Given the description of an element on the screen output the (x, y) to click on. 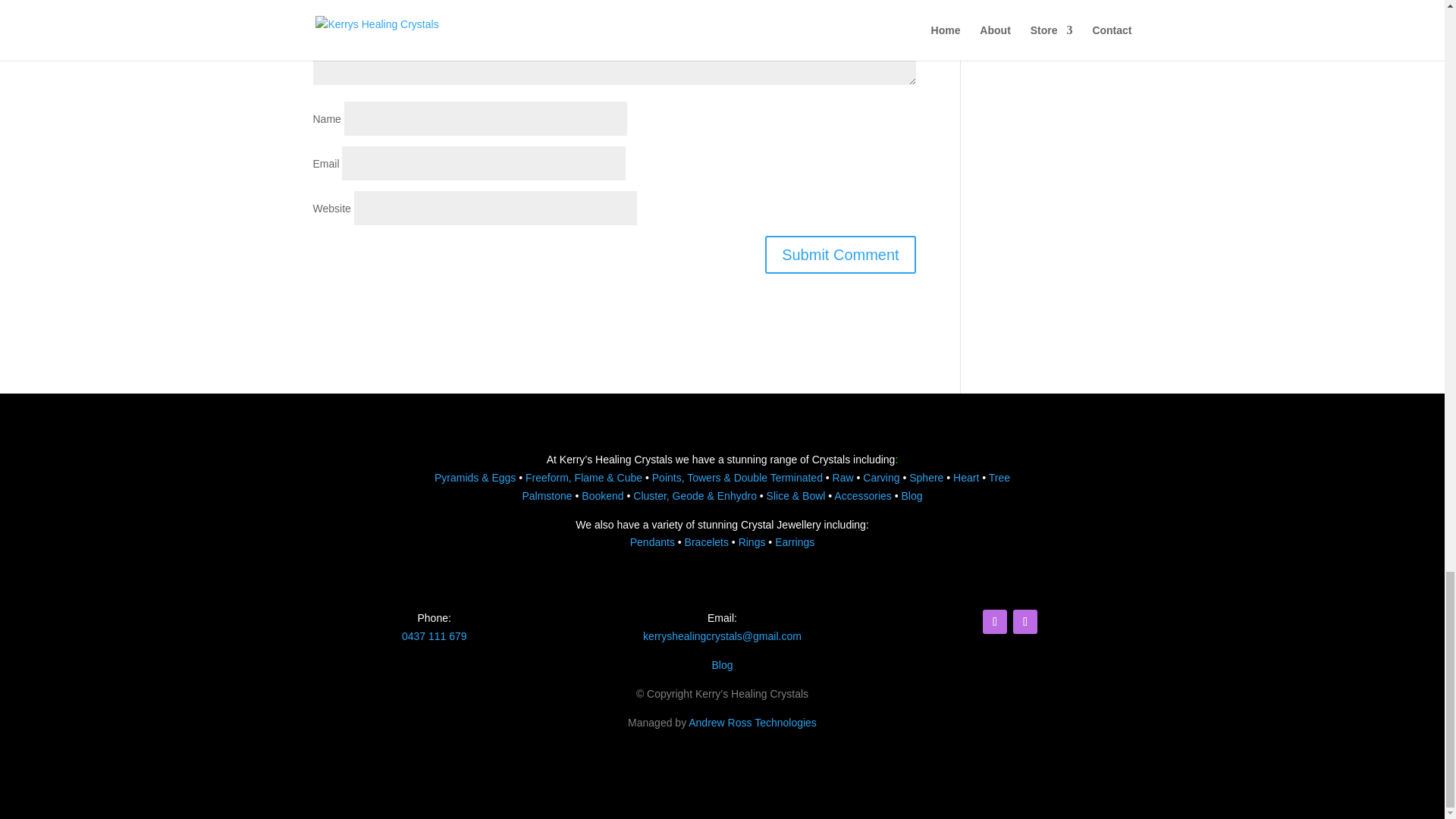
Palmstone (546, 495)
Follow on Facebook (994, 621)
Rings (751, 541)
Submit Comment (840, 254)
Pendants (652, 541)
Sphere (925, 477)
Carving (881, 477)
Submit Comment (840, 254)
0437 111 679 (434, 635)
Raw (842, 477)
